Given the description of an element on the screen output the (x, y) to click on. 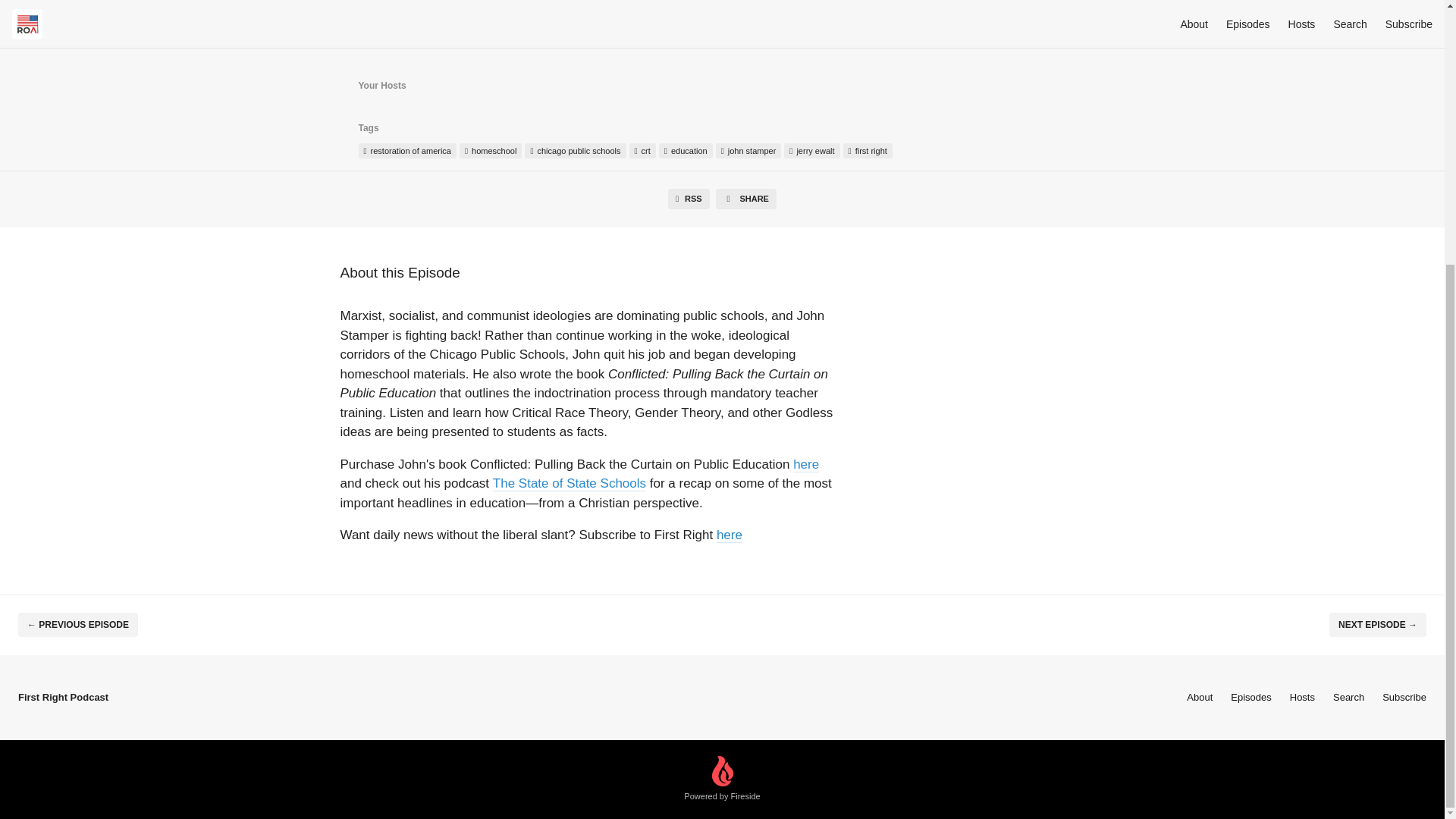
crt (642, 150)
john stamper (748, 150)
SHARE (746, 199)
The State of State Schools (569, 482)
here (729, 534)
education (686, 150)
About (1199, 696)
Powered by Fireside (722, 779)
jerry ewalt (812, 150)
RSS (689, 199)
